Given the description of an element on the screen output the (x, y) to click on. 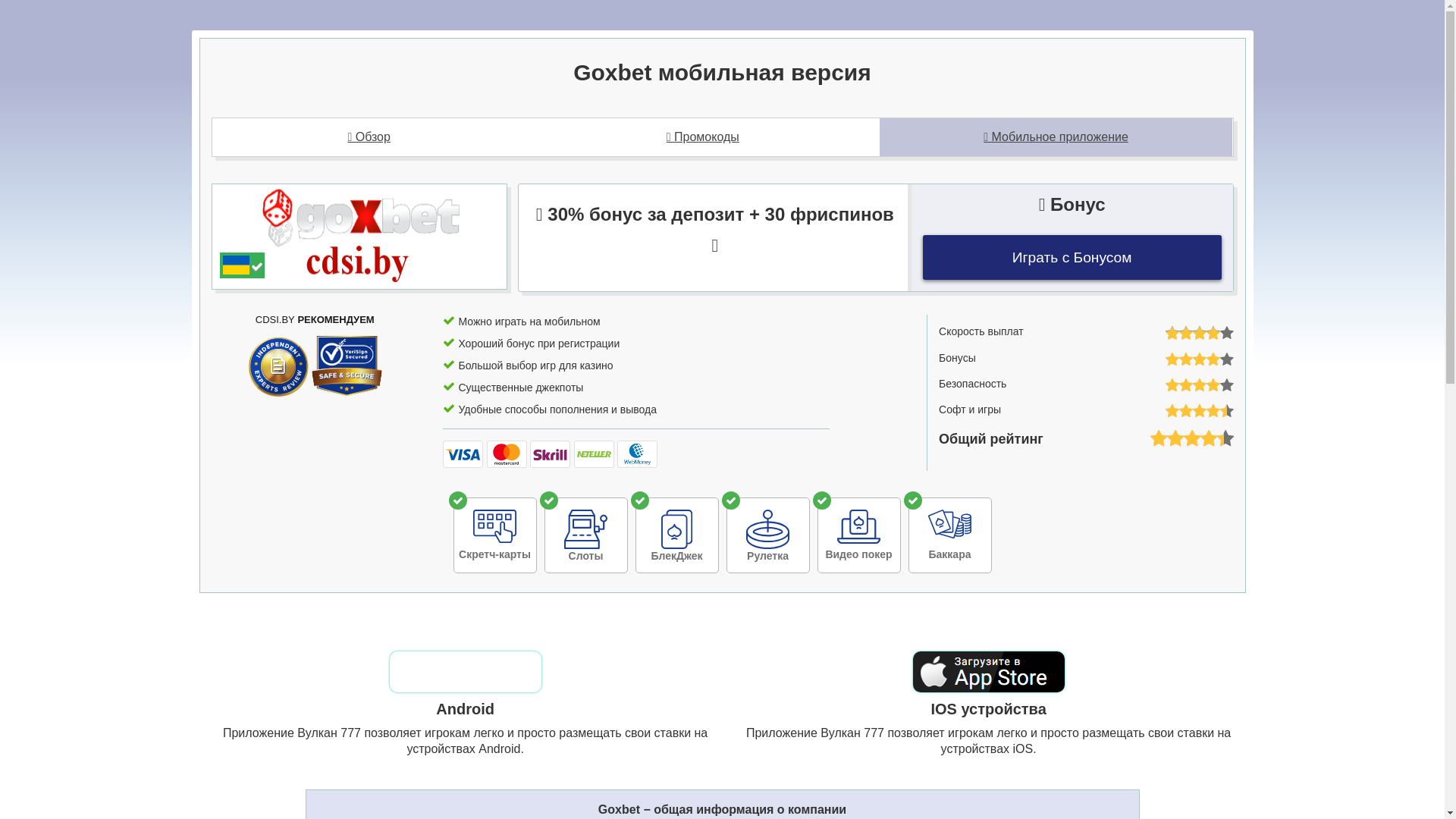
Independent Expert Reviews Element type: hover (277, 365)
WebMoney Element type: hover (637, 453)
Visa Element type: hover (462, 453)
AppStore Element type: text (988, 671)
Mastercard Element type: hover (506, 453)
Verisign Secure Element type: hover (346, 365)
Goxbet Logo Element type: hover (359, 235)
Neteller Element type: hover (594, 453)
Skrill Element type: hover (550, 453)
Android Element type: text (465, 671)
